Given the description of an element on the screen output the (x, y) to click on. 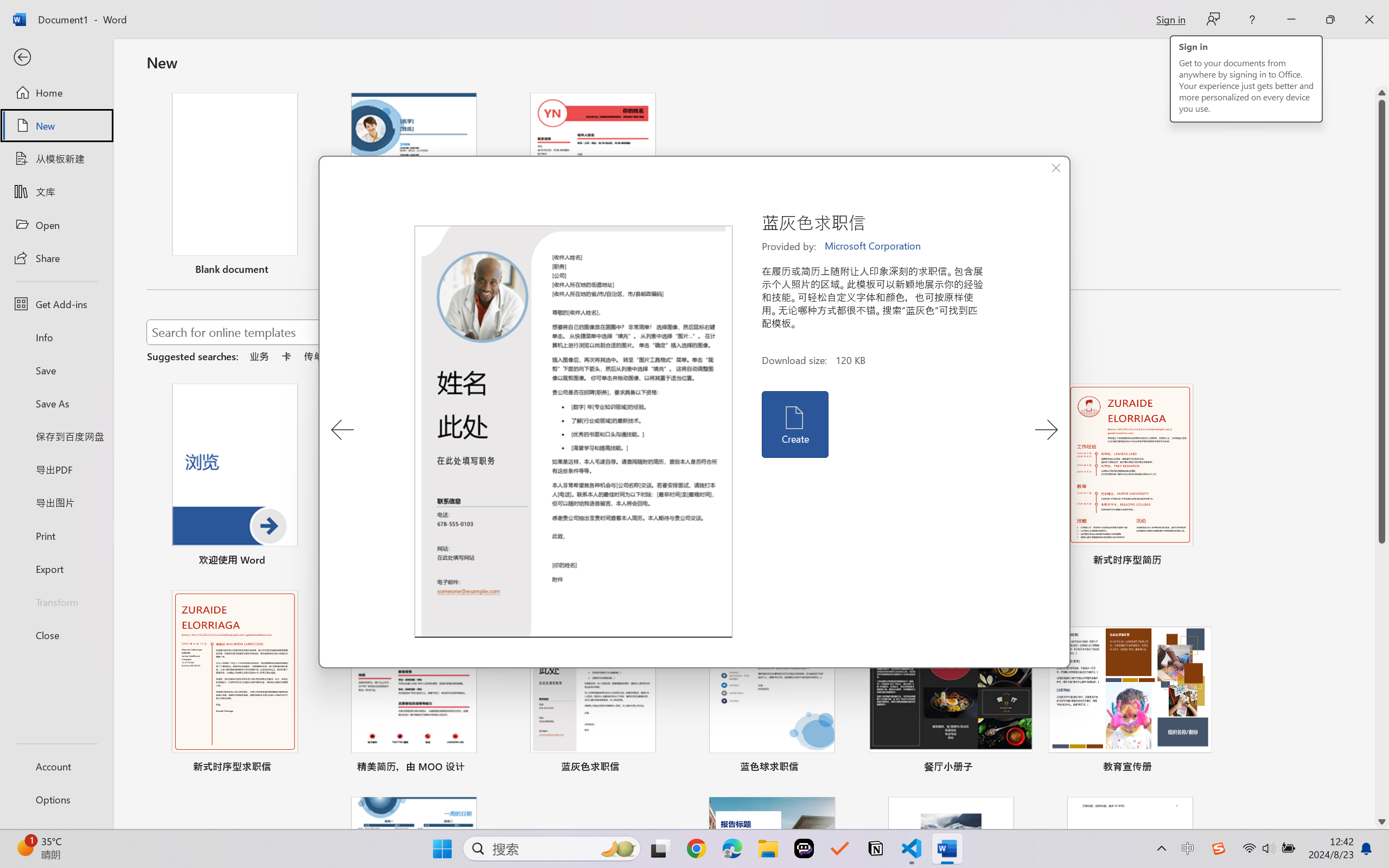
Page down (1382, 679)
Line up (1382, 92)
Start searching (638, 332)
